Given the description of an element on the screen output the (x, y) to click on. 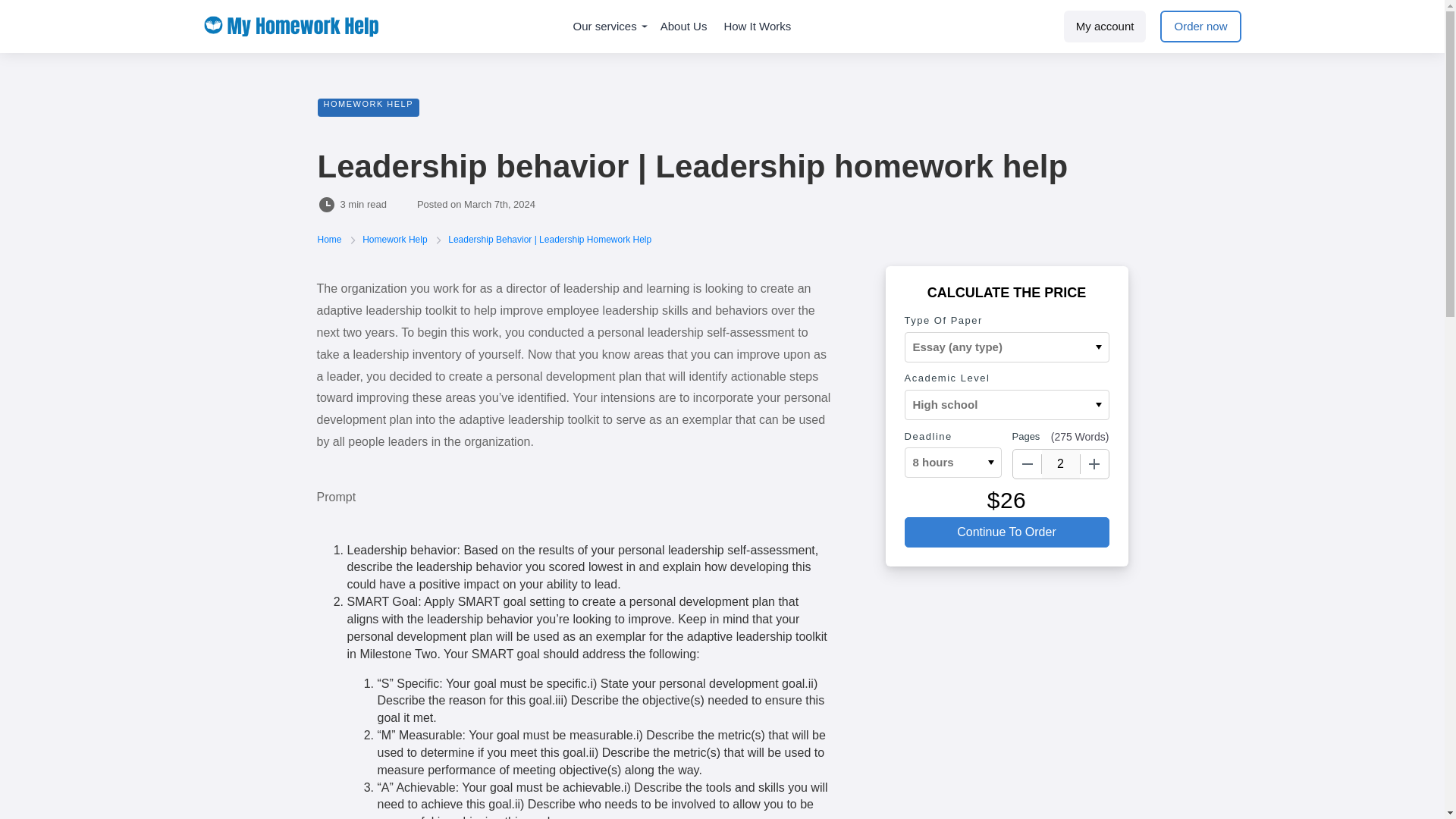
2 (1061, 463)
How It Works (756, 27)
Increase (1094, 463)
Homework Help (395, 239)
Continue to order (1006, 531)
Order now (1200, 26)
Home (330, 239)
My account (1105, 26)
About Us (684, 27)
Decrease (1027, 463)
Continue to order (1006, 531)
HOMEWORK HELP (368, 107)
